Given the description of an element on the screen output the (x, y) to click on. 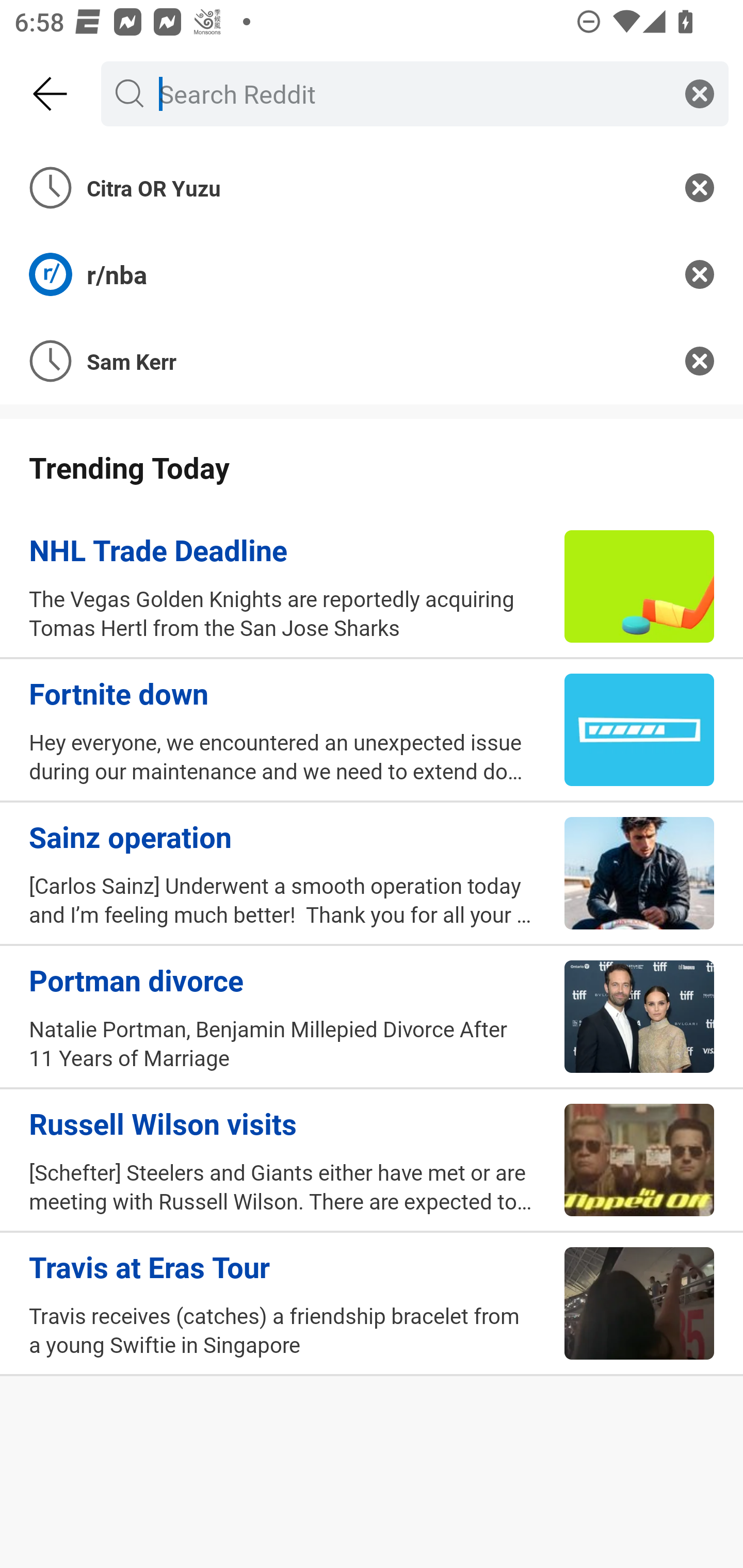
Back (50, 93)
Search Reddit (410, 93)
Clear search (699, 93)
Citra OR Yuzu Recent search: Citra OR Yuzu Remove (371, 187)
Remove (699, 187)
r/nba Recent search: r/nba Remove (371, 274)
Remove (699, 274)
Sam Kerr Recent search: Sam Kerr Remove (371, 361)
Remove (699, 361)
